Given the description of an element on the screen output the (x, y) to click on. 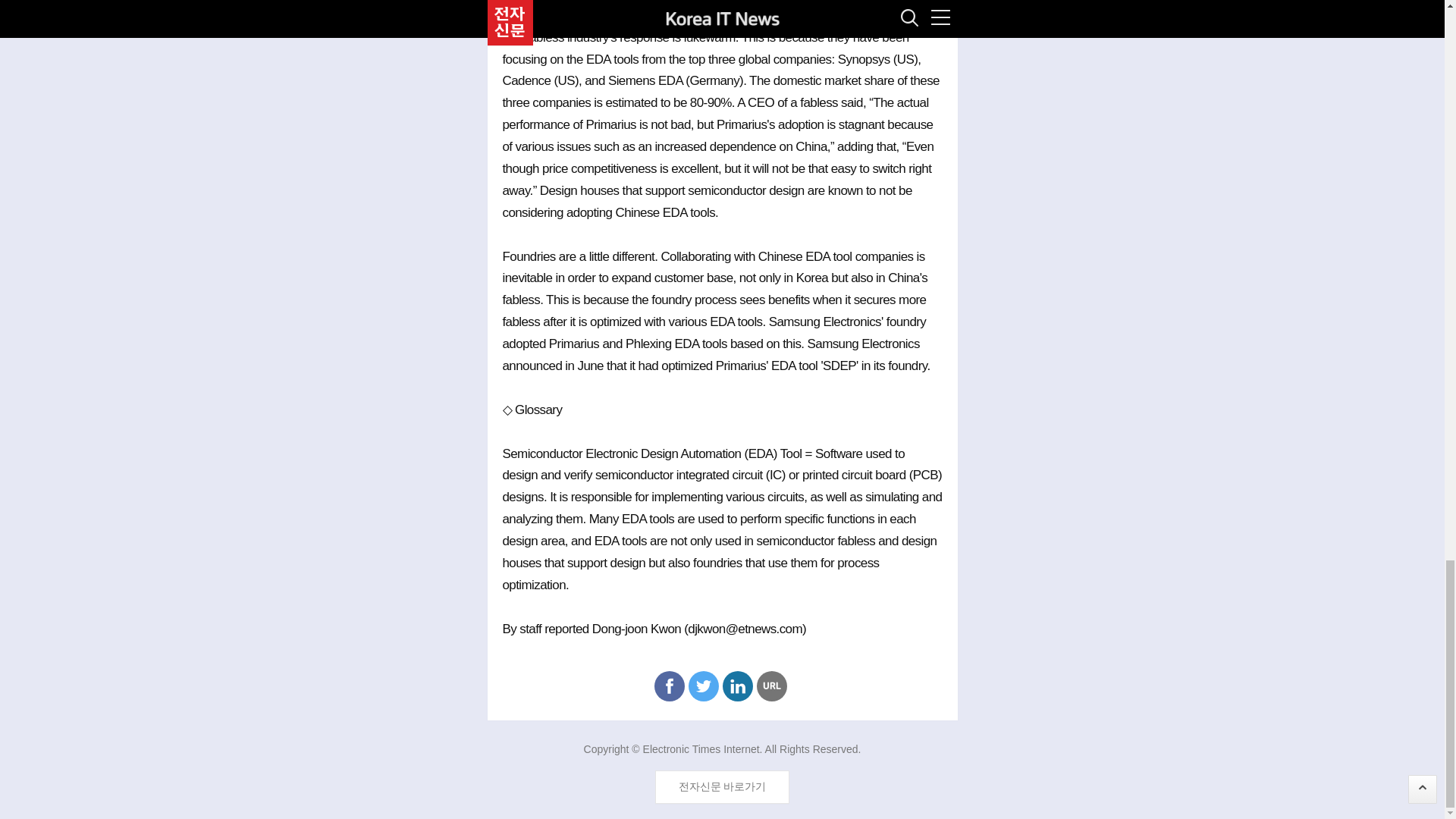
linkedin (737, 685)
Copy URL To Clipboard (772, 685)
Facebook (668, 685)
Twitter (703, 685)
